Given the description of an element on the screen output the (x, y) to click on. 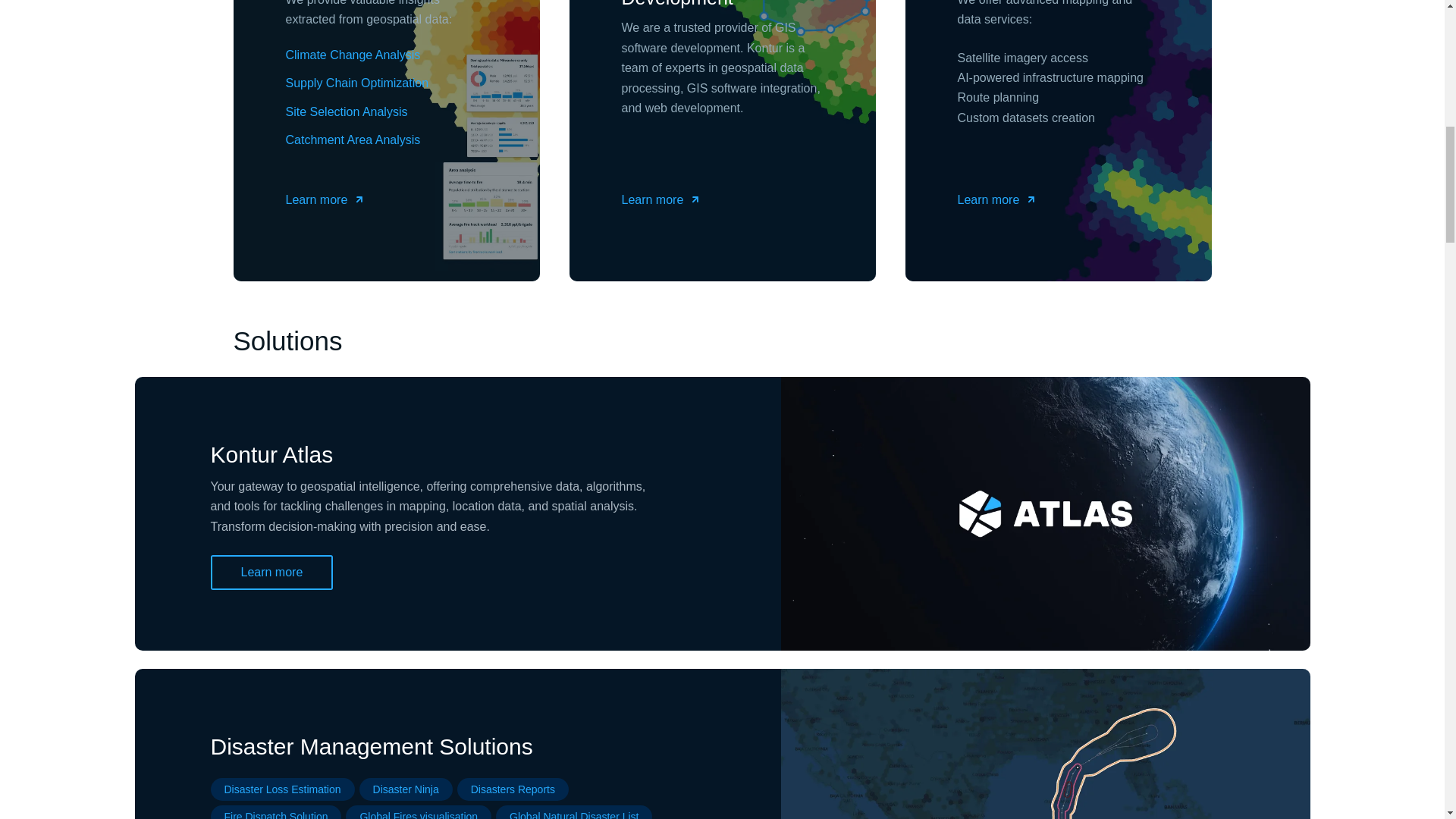
Disaster Ninja (405, 789)
Learn more (660, 200)
Fire Dispatch Solution (276, 814)
Learn more (324, 200)
Learn more (995, 200)
Site Selection Analysis (346, 112)
Climate Change Analysis (352, 55)
Learn more (272, 572)
Global Fires visualisation (418, 814)
Disaster Loss Estimation (282, 789)
